Given the description of an element on the screen output the (x, y) to click on. 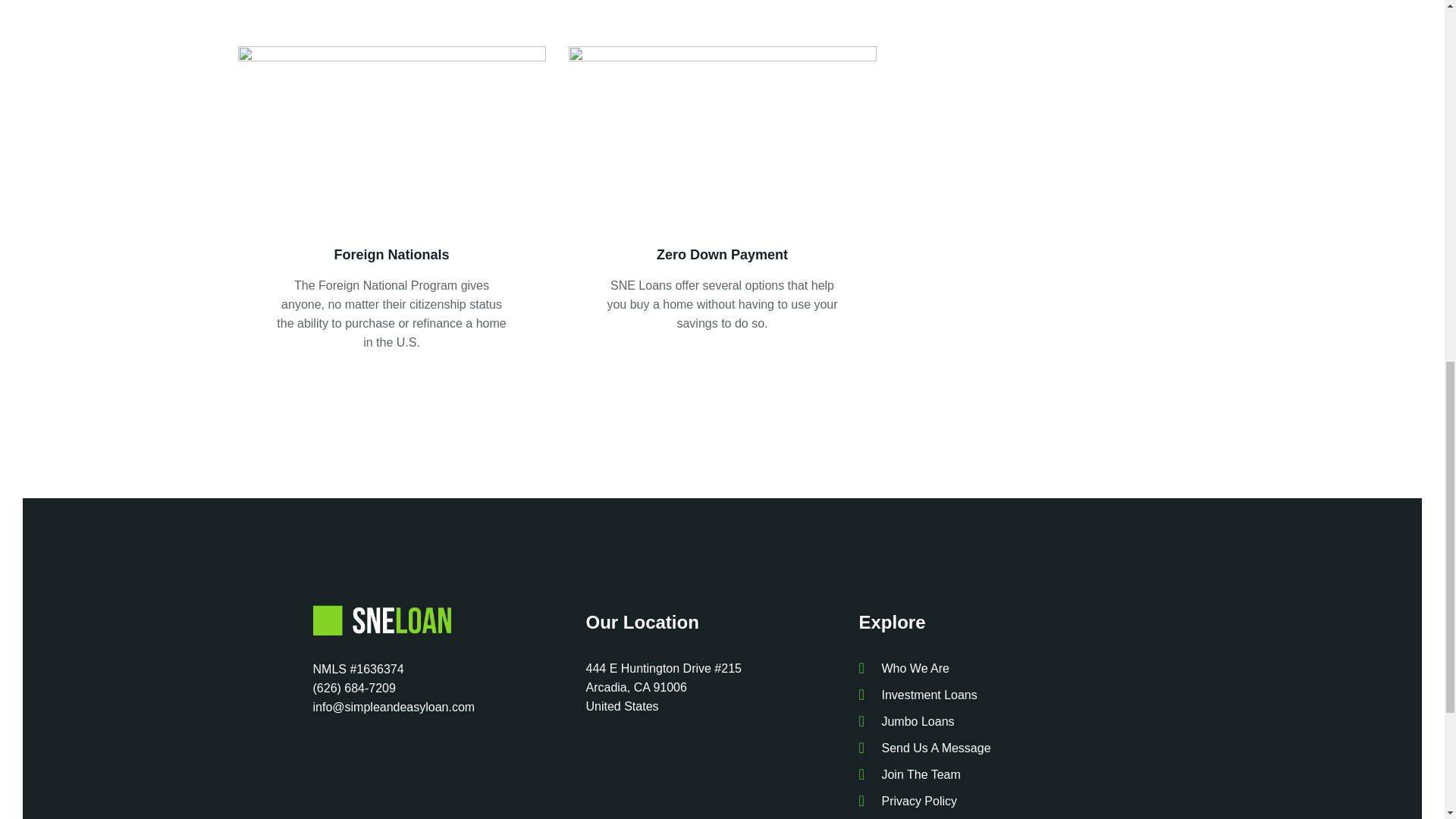
Zero Down Payment (722, 254)
Who We Are (995, 668)
Join The Team (995, 773)
Foreign Nationals (392, 254)
Investment Loans (995, 694)
Privacy Policy (995, 800)
Jumbo Loans (995, 721)
Send Us A Message (995, 747)
